Given the description of an element on the screen output the (x, y) to click on. 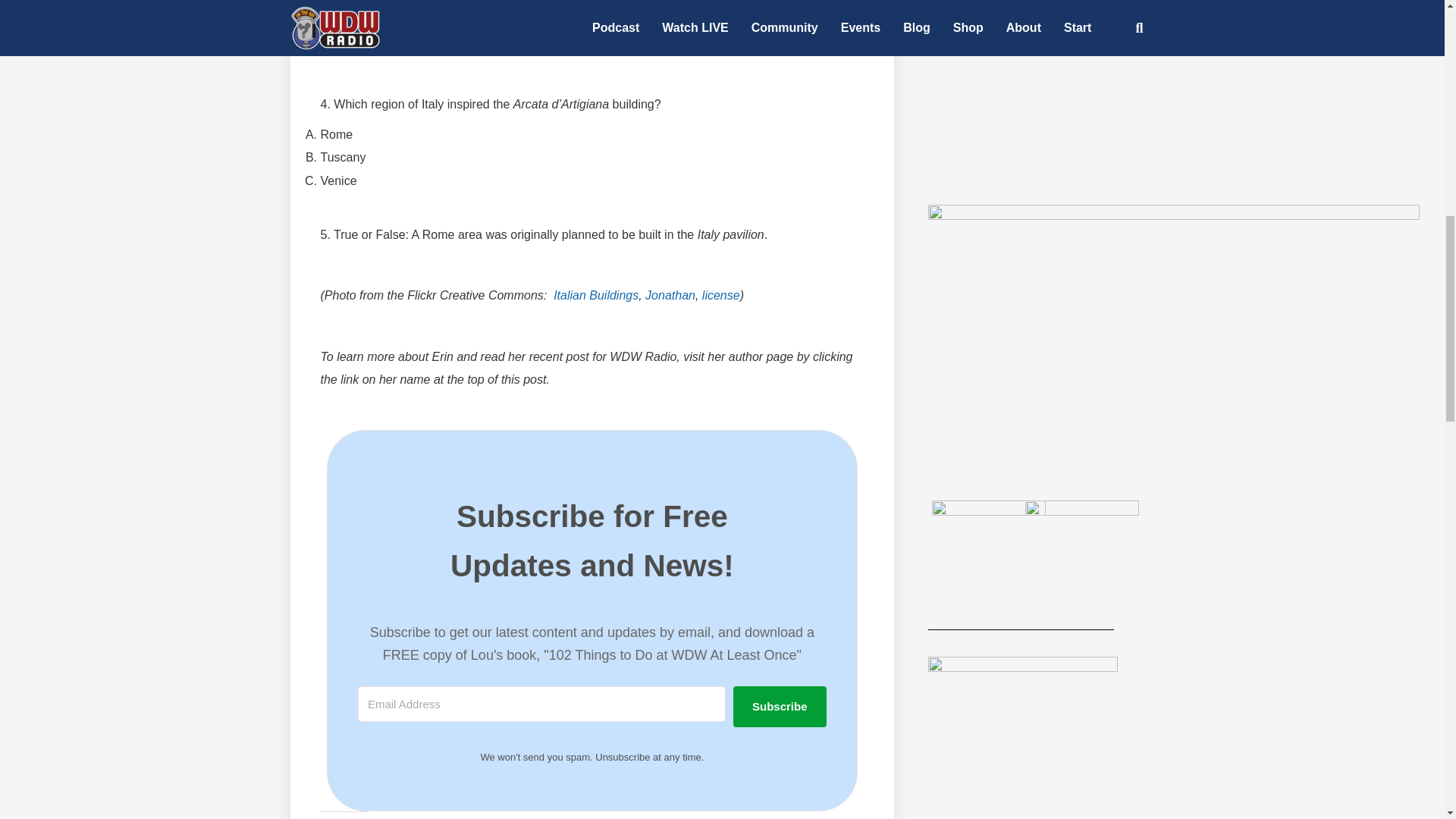
license (720, 295)
Italian Buildings (596, 295)
Jonathan (670, 295)
